Given the description of an element on the screen output the (x, y) to click on. 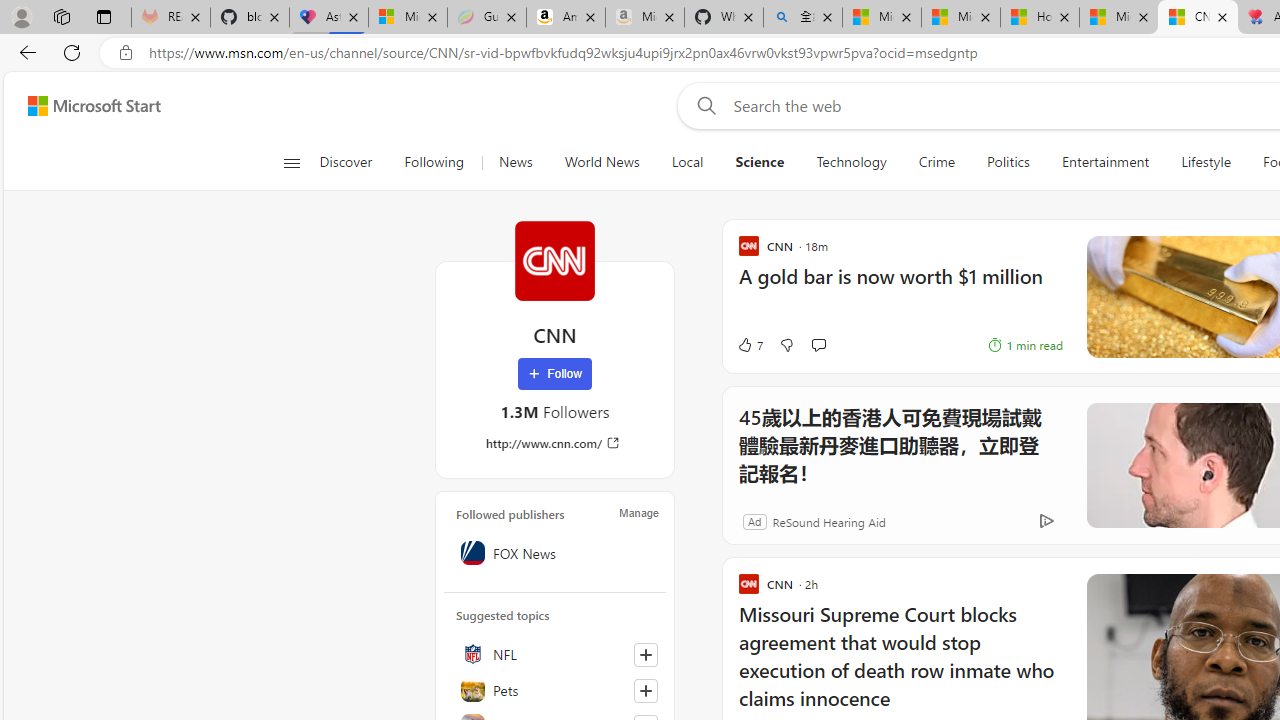
Asthma Inhalers: Names and Types (329, 17)
